Given the description of an element on the screen output the (x, y) to click on. 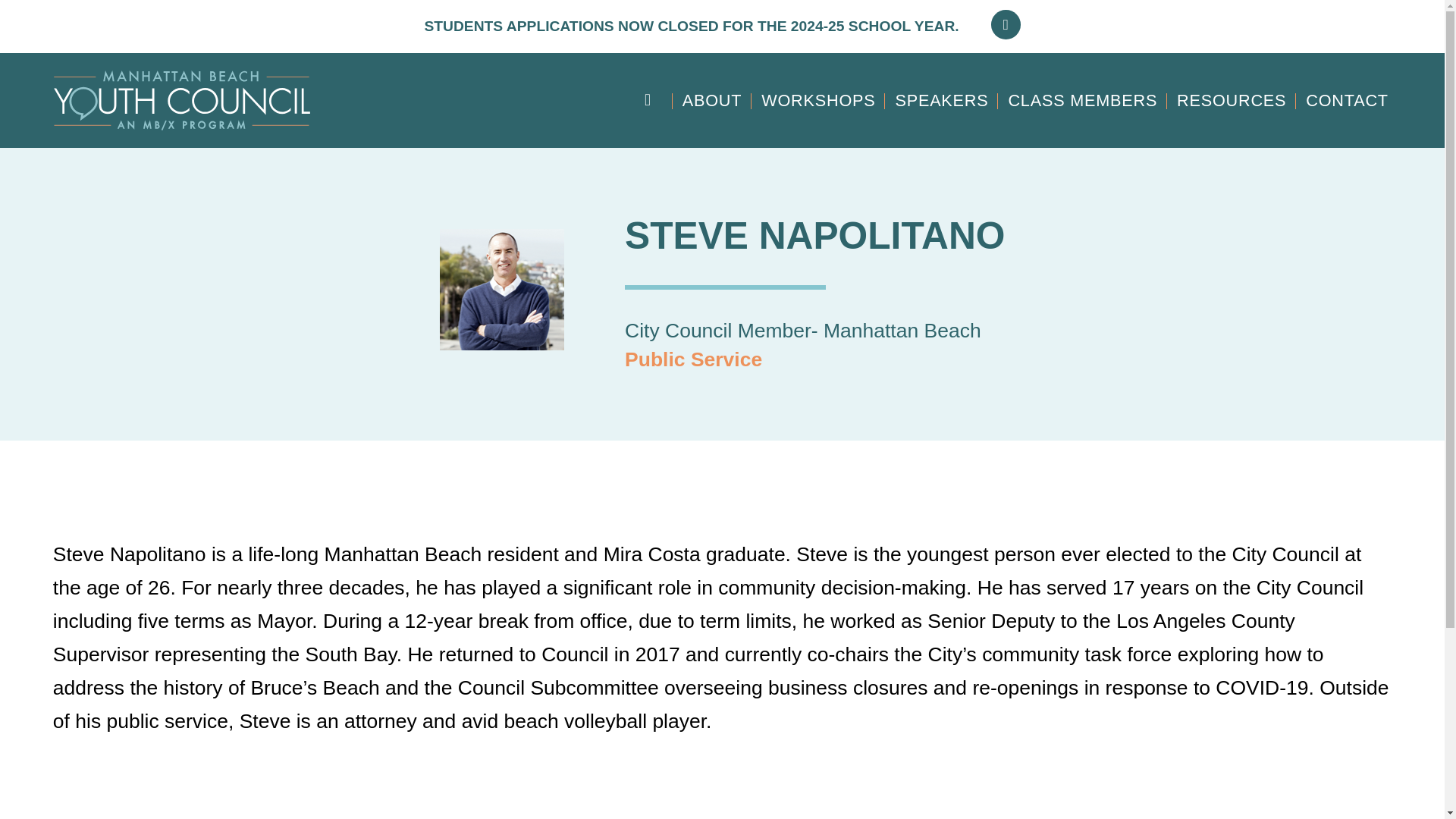
Like me on Facebook (1005, 24)
SPEAKERS (941, 100)
CONTACT (1347, 100)
Public Service (692, 359)
RESOURCES (1231, 100)
ABOUT (711, 100)
WORKSHOPS (818, 100)
CLASS MEMBERS (1082, 100)
